Given the description of an element on the screen output the (x, y) to click on. 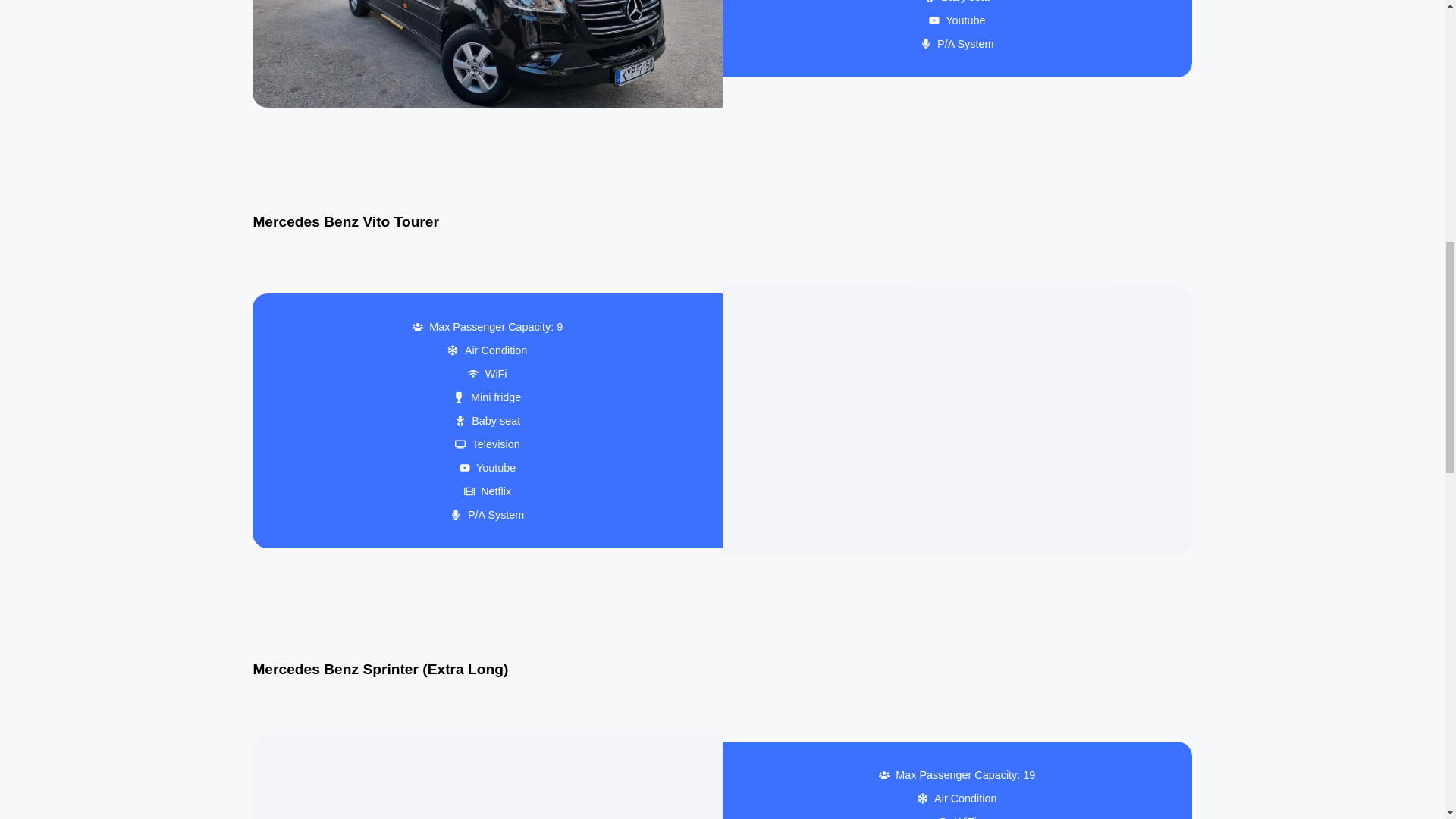
Fleet 1 (486, 53)
Fleet 14 (486, 776)
Fleet 12 (956, 420)
